Given the description of an element on the screen output the (x, y) to click on. 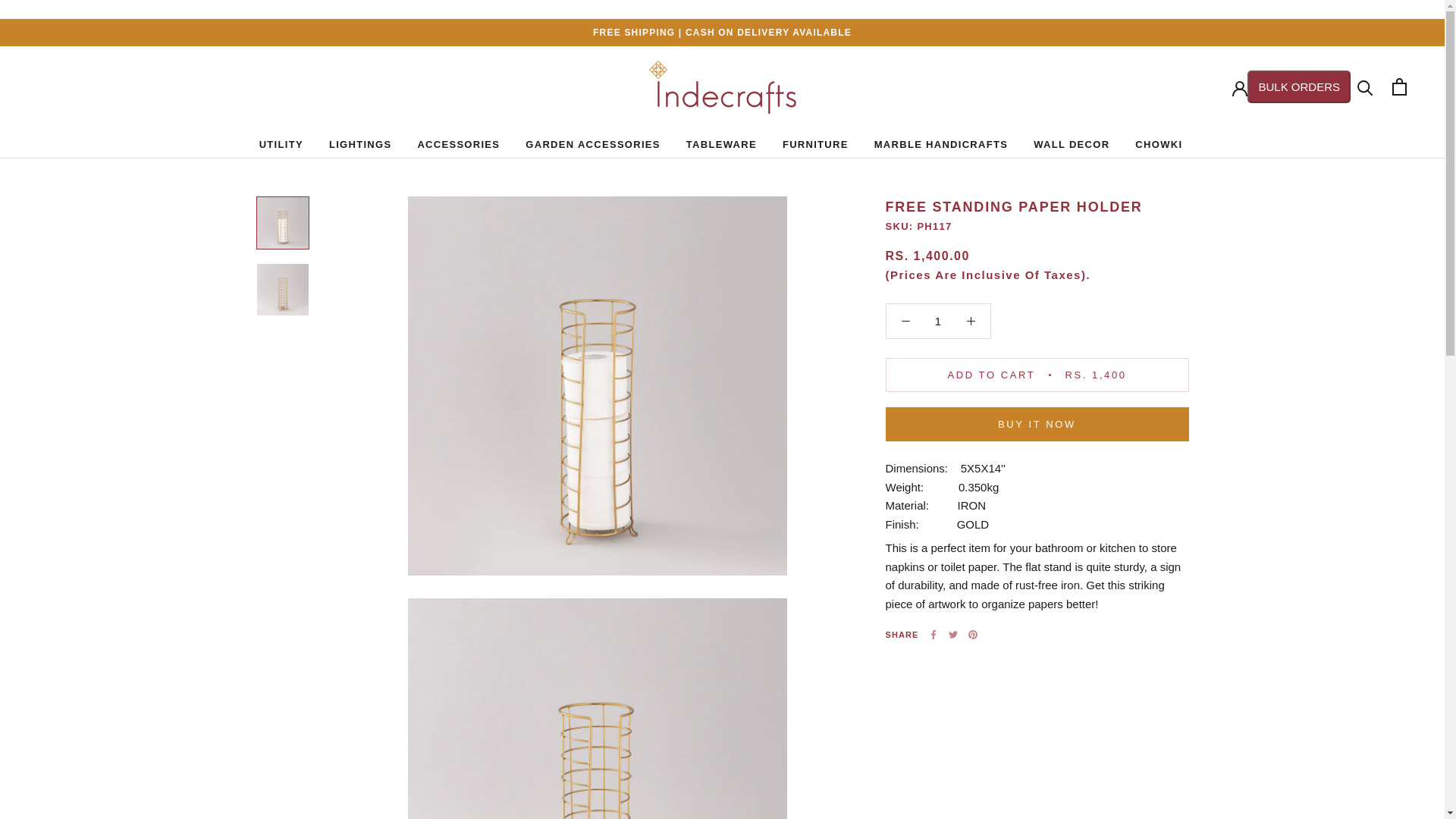
1 (938, 320)
BULK ORDERS (1299, 86)
